Given the description of an element on the screen output the (x, y) to click on. 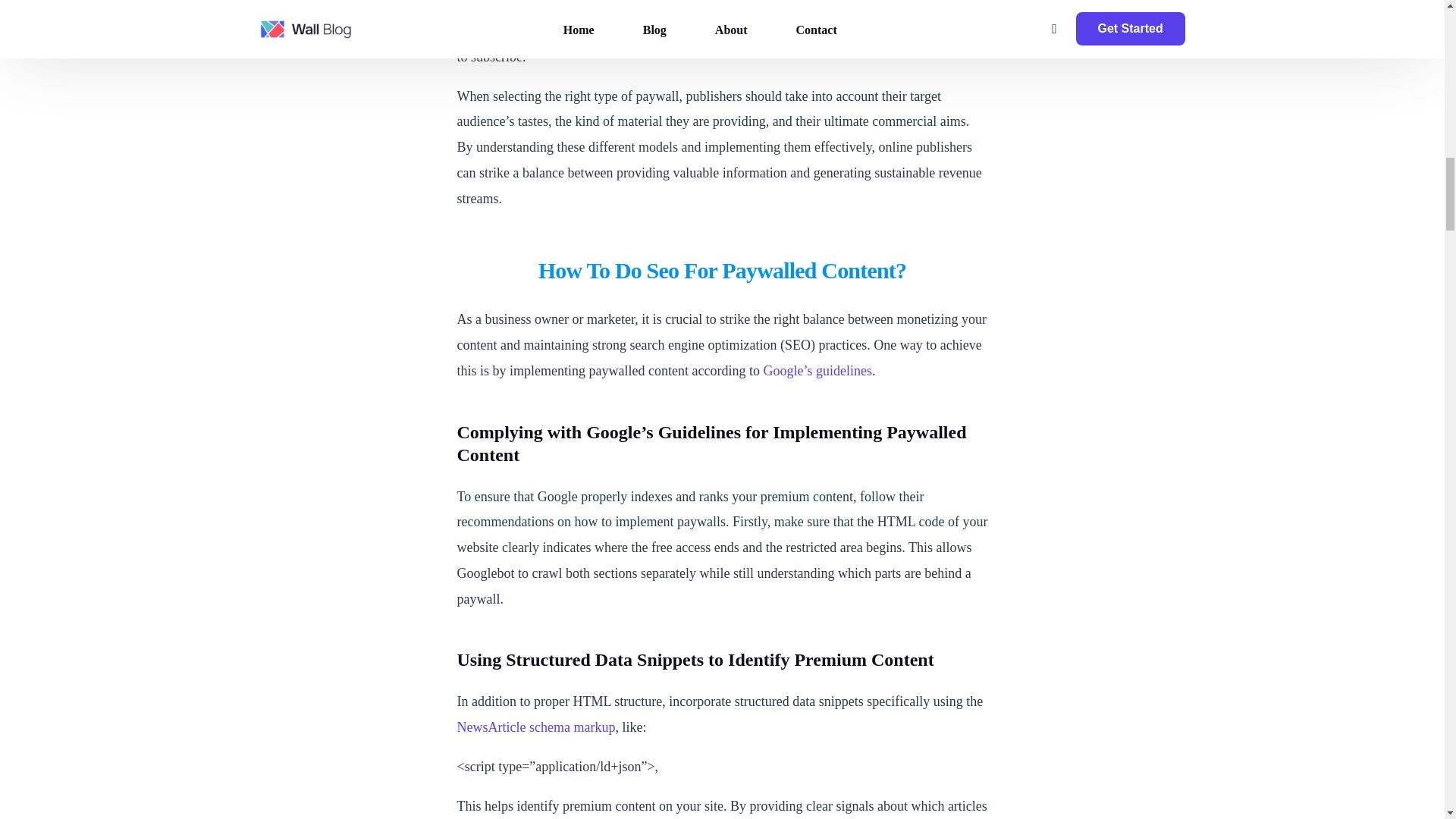
NewsArticle schema markup (535, 726)
